Given the description of an element on the screen output the (x, y) to click on. 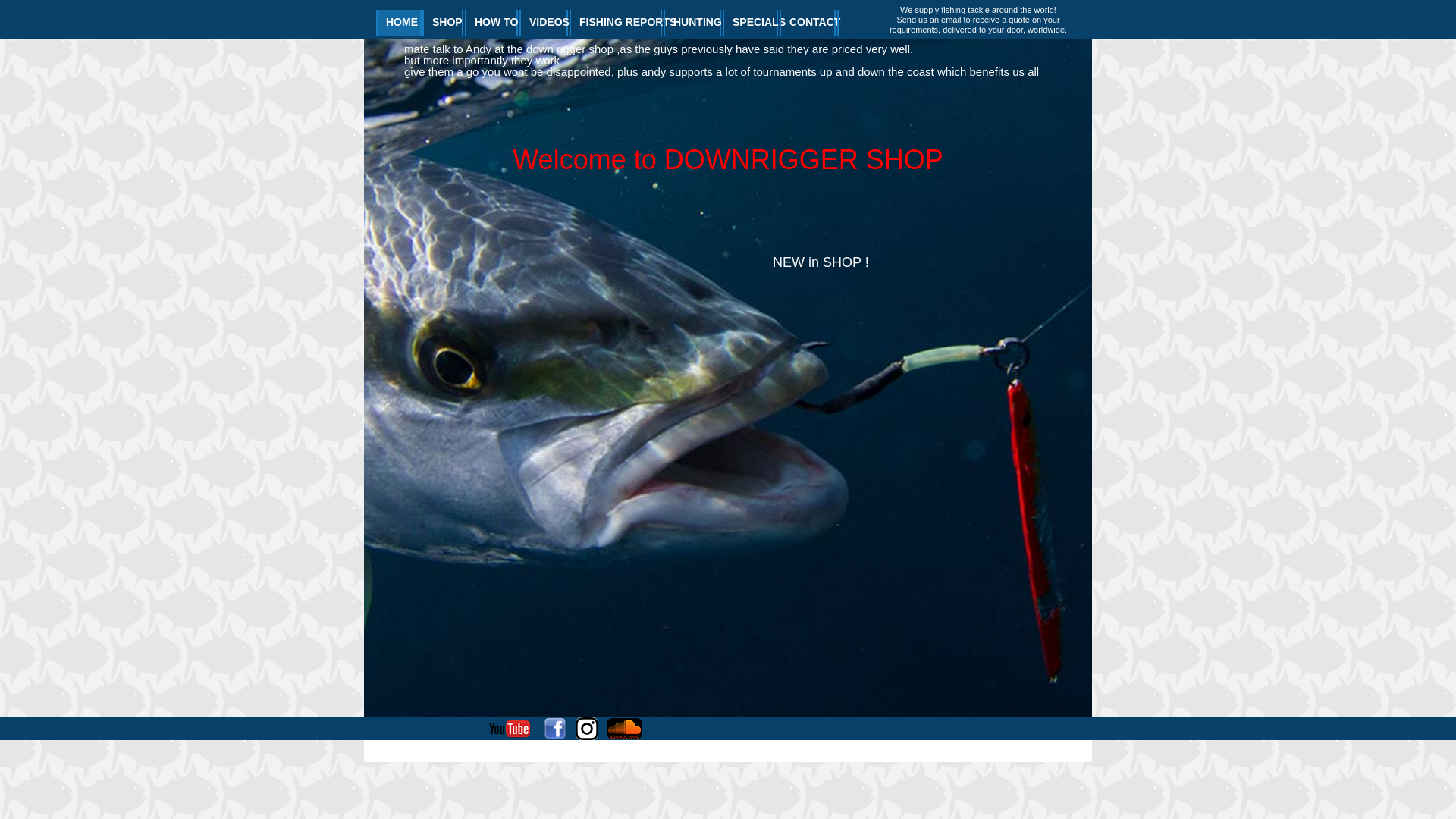
SPECIALS Element type: text (750, 22)
GET FREE SAMPLES Element type: text (849, 738)
NEW in SHOP ! Element type: text (820, 263)
HOME Element type: text (398, 22)
VIDEOS Element type: text (543, 22)
VISIT US on ... Element type: text (432, 728)
HUNTING Element type: text (692, 22)
TESTIMONIALS Element type: text (876, 22)
SHOP Element type: text (442, 22)
CONTACT Element type: text (807, 22)
FISHING REPORTS Element type: text (615, 22)
Go to our Facebook page Element type: hover (554, 728)
HOW TO Element type: text (490, 22)
